Given the description of an element on the screen output the (x, y) to click on. 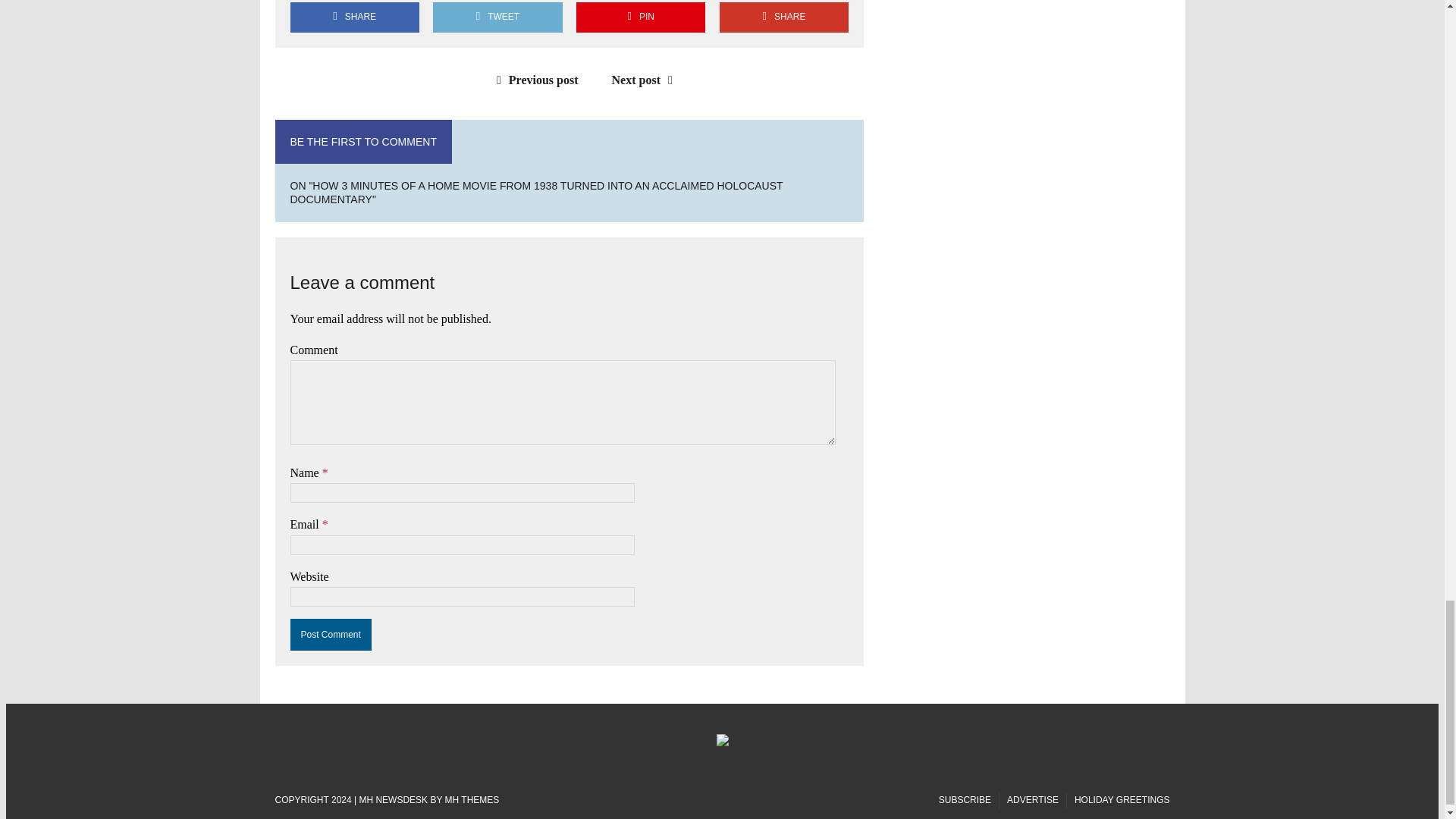
Share on Facebook (354, 16)
Pin This Post (640, 16)
Post Comment (330, 634)
Tweet This Post (497, 16)
